Given the description of an element on the screen output the (x, y) to click on. 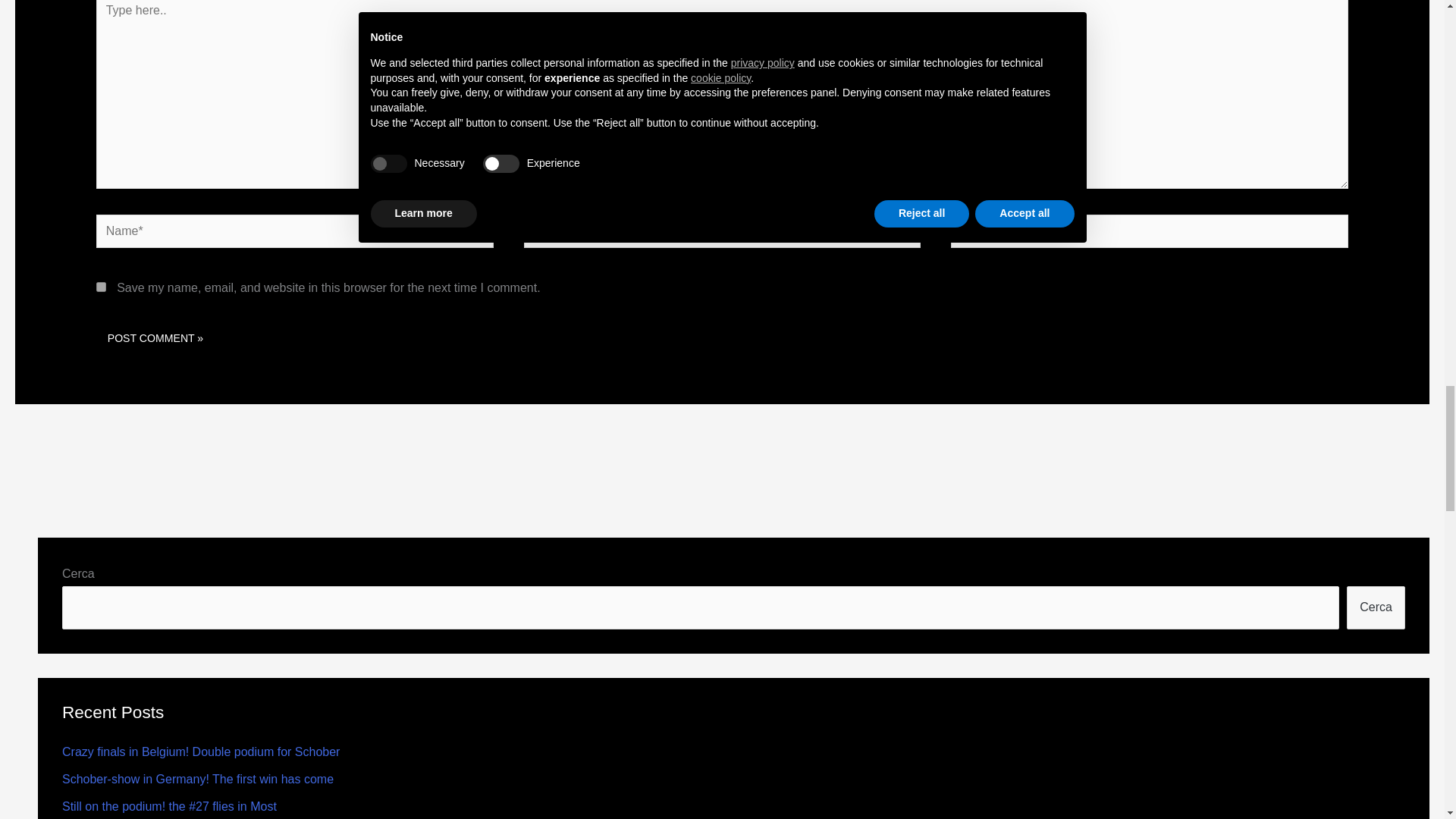
yes (101, 286)
